Given the description of an element on the screen output the (x, y) to click on. 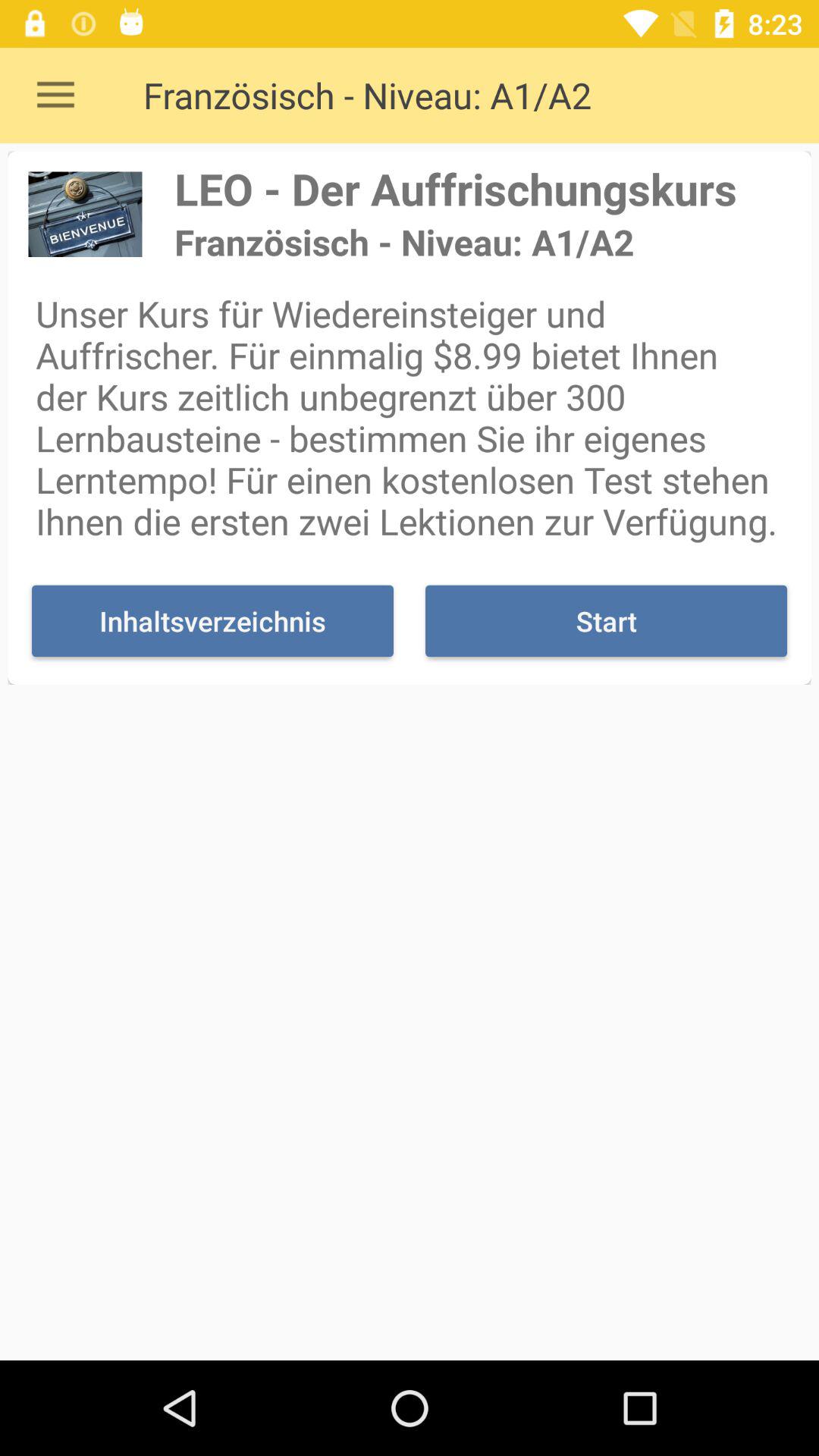
tap item above the inhaltsverzeichnis (409, 417)
